Given the description of an element on the screen output the (x, y) to click on. 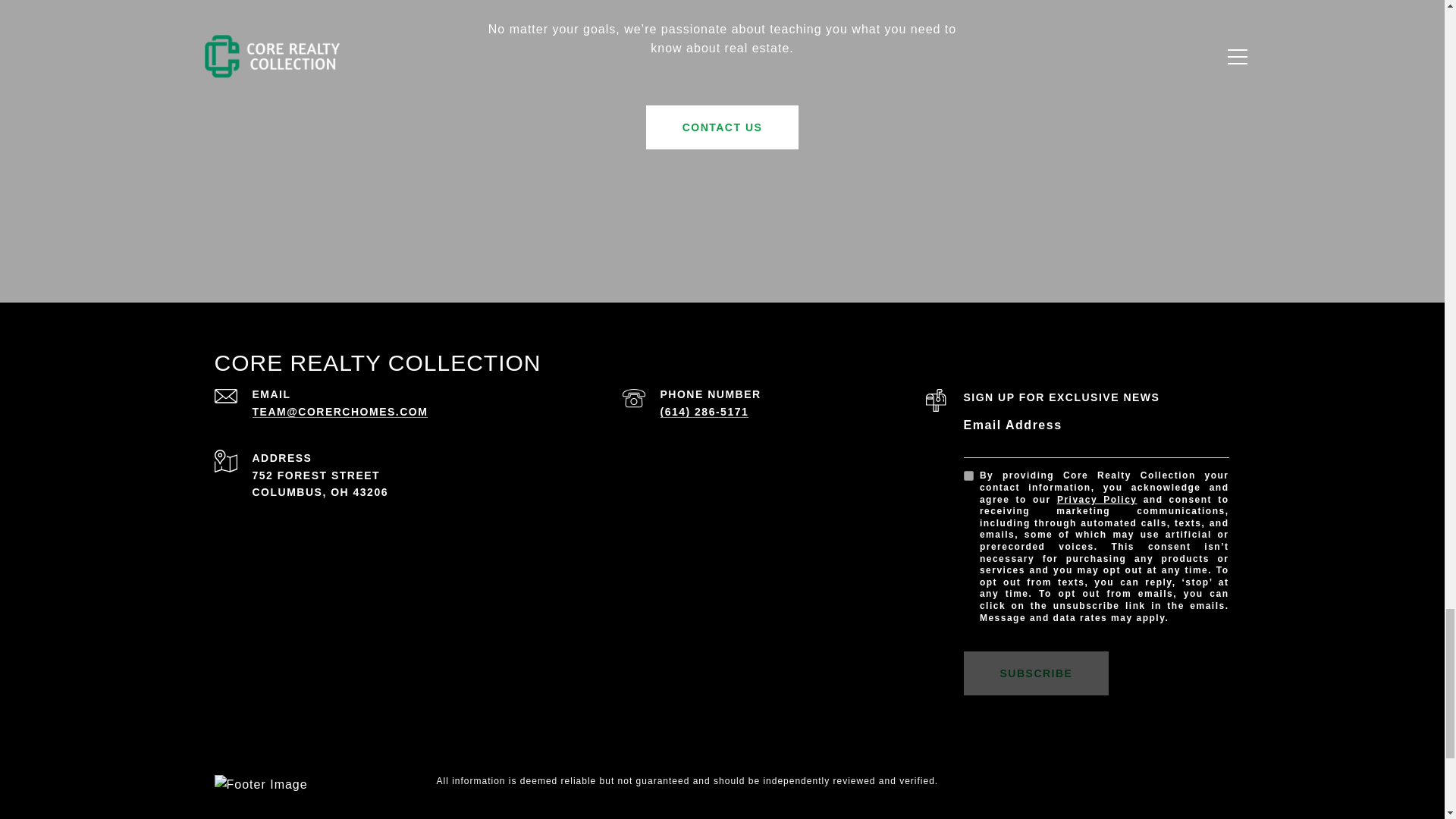
on (967, 475)
CONTACT US (722, 127)
